Given the description of an element on the screen output the (x, y) to click on. 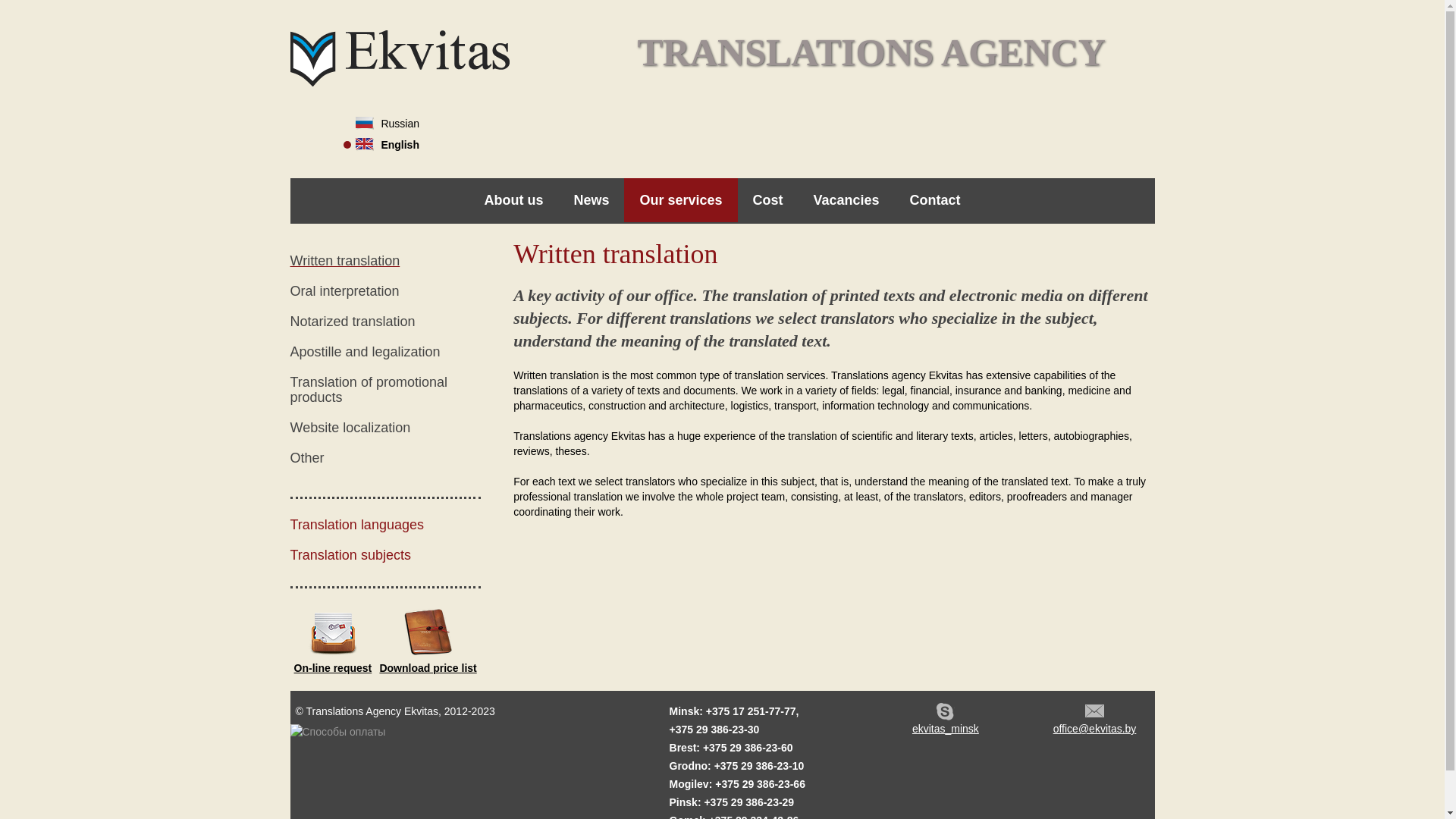
Contact Element type: text (934, 200)
Translation languages Element type: text (356, 524)
News Element type: text (591, 200)
Translation of promotional products Element type: text (367, 389)
Translation subjects Element type: text (349, 554)
Cost Element type: text (767, 200)
Oral interpretation Element type: text (343, 290)
Notarized translation Element type: text (351, 321)
Other Element type: text (306, 457)
English Element type: text (380, 144)
home Element type: hover (398, 82)
Vacancies Element type: text (846, 200)
Website localization Element type: text (349, 427)
On-line request Element type: text (333, 638)
office@ekvitas.by Element type: text (1094, 719)
Download price list Element type: text (427, 638)
Written translation Element type: text (344, 260)
ekvitas_minsk Element type: text (945, 719)
Apostille and legalization Element type: text (364, 351)
Russian Element type: text (380, 123)
Our services Element type: text (680, 200)
About us Element type: text (513, 200)
